Given the description of an element on the screen output the (x, y) to click on. 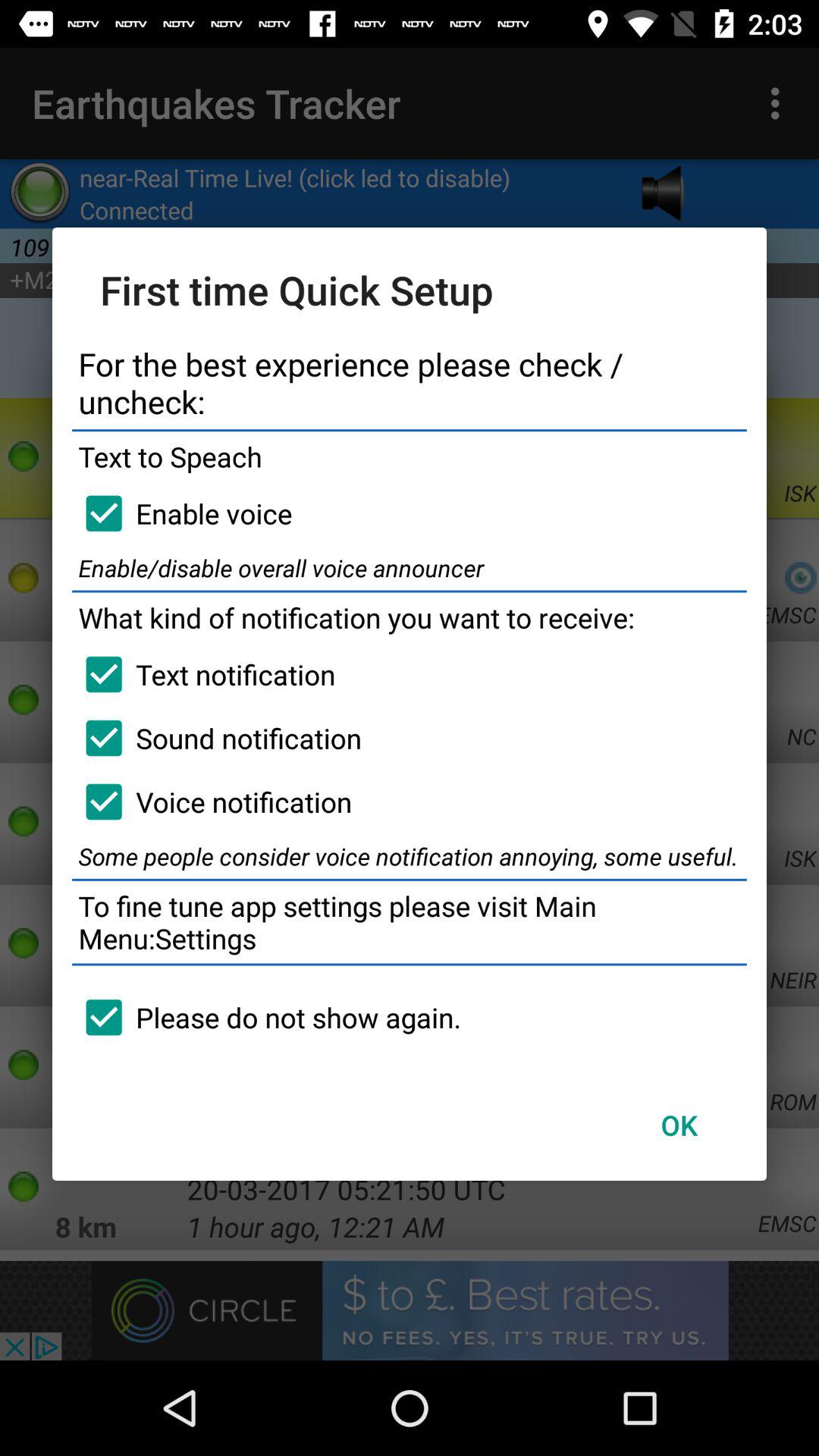
select text notification item (203, 674)
